Given the description of an element on the screen output the (x, y) to click on. 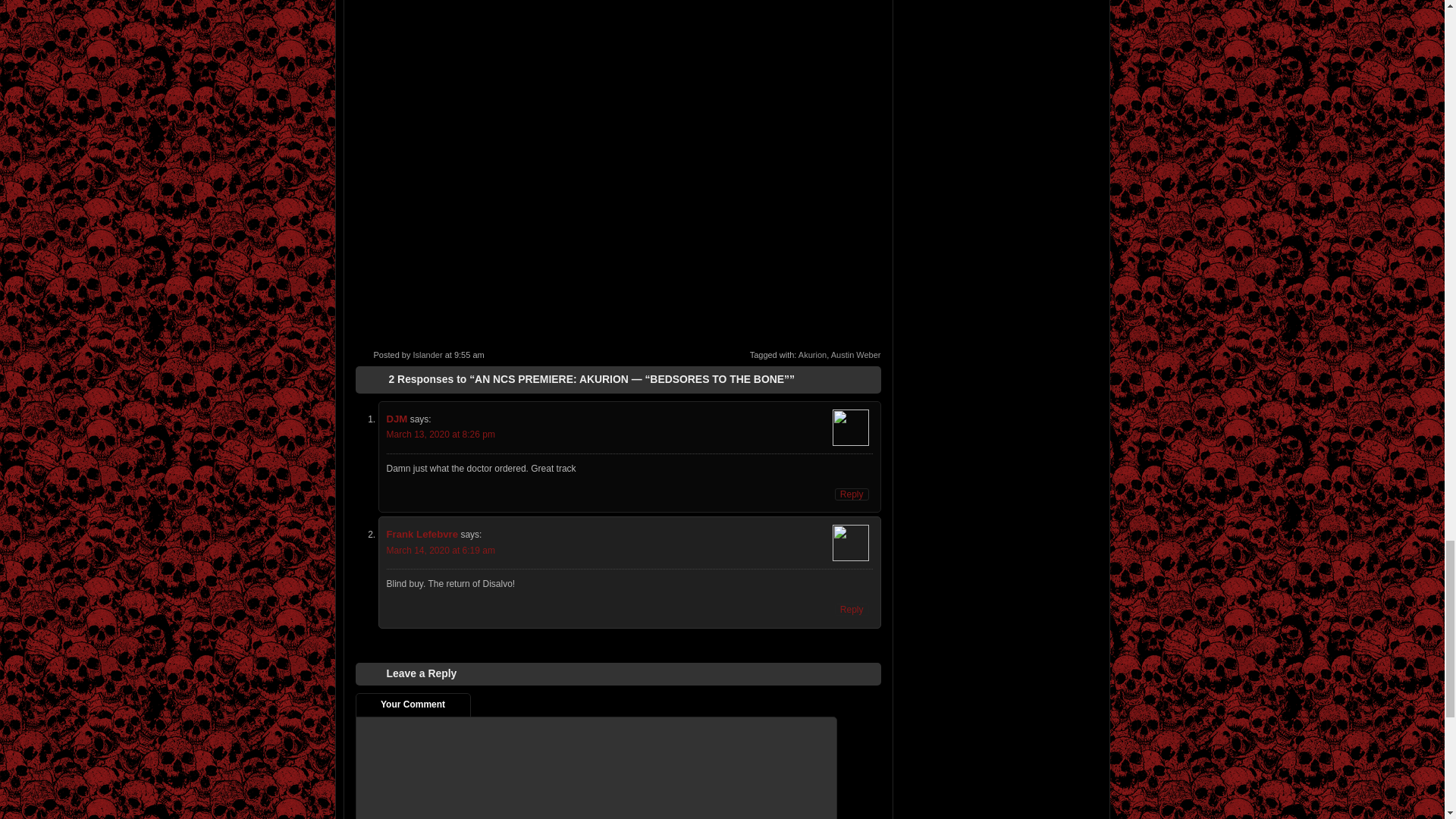
Reply (851, 494)
March 14, 2020 at 6:19 am (441, 550)
Reply (851, 609)
Austin Weber (855, 354)
Akurion (812, 354)
March 13, 2020 at 8:26 pm (441, 434)
Islander (427, 354)
